Given the description of an element on the screen output the (x, y) to click on. 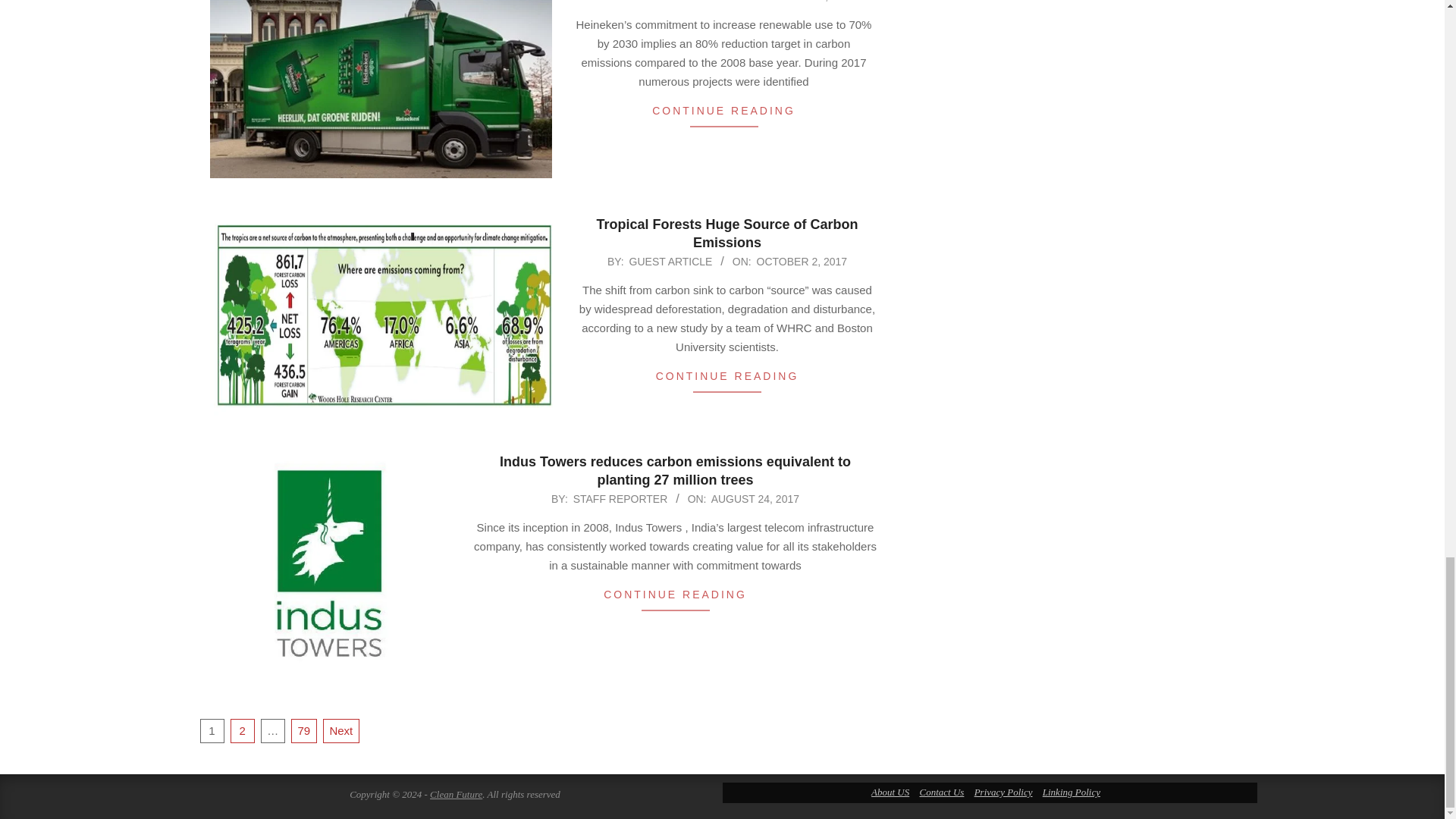
Monday, October 2, 2017, 10:00 am (802, 261)
Posts by Staff Reporter (620, 499)
Monday, February 26, 2018, 1:44 pm (803, 1)
Posts by Staff Reporter (661, 1)
Posts by Guest Article (670, 261)
Thursday, August 24, 2017, 1:45 pm (755, 499)
